Given the description of an element on the screen output the (x, y) to click on. 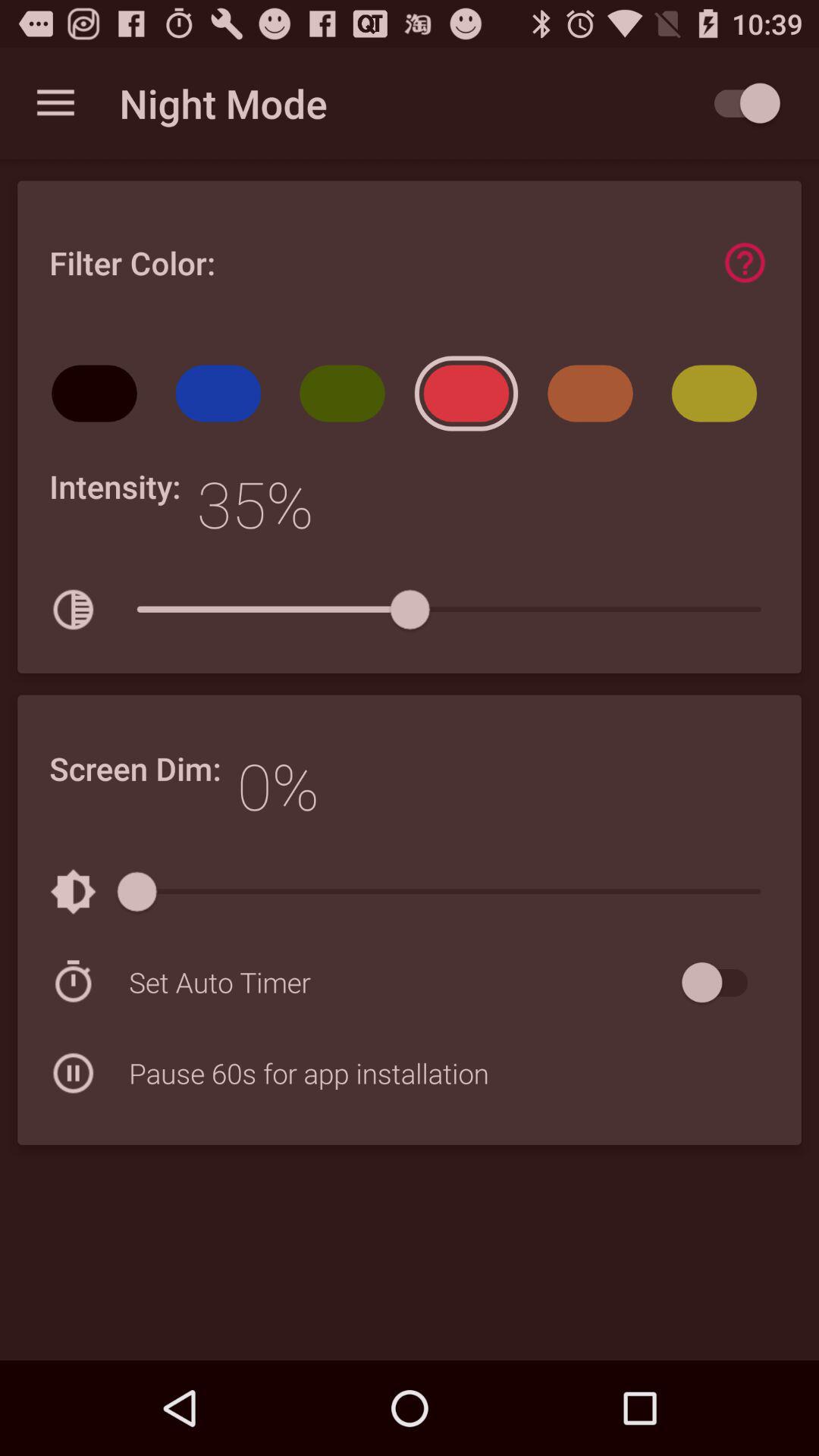
choose the app to the right of night mode (739, 103)
